Given the description of an element on the screen output the (x, y) to click on. 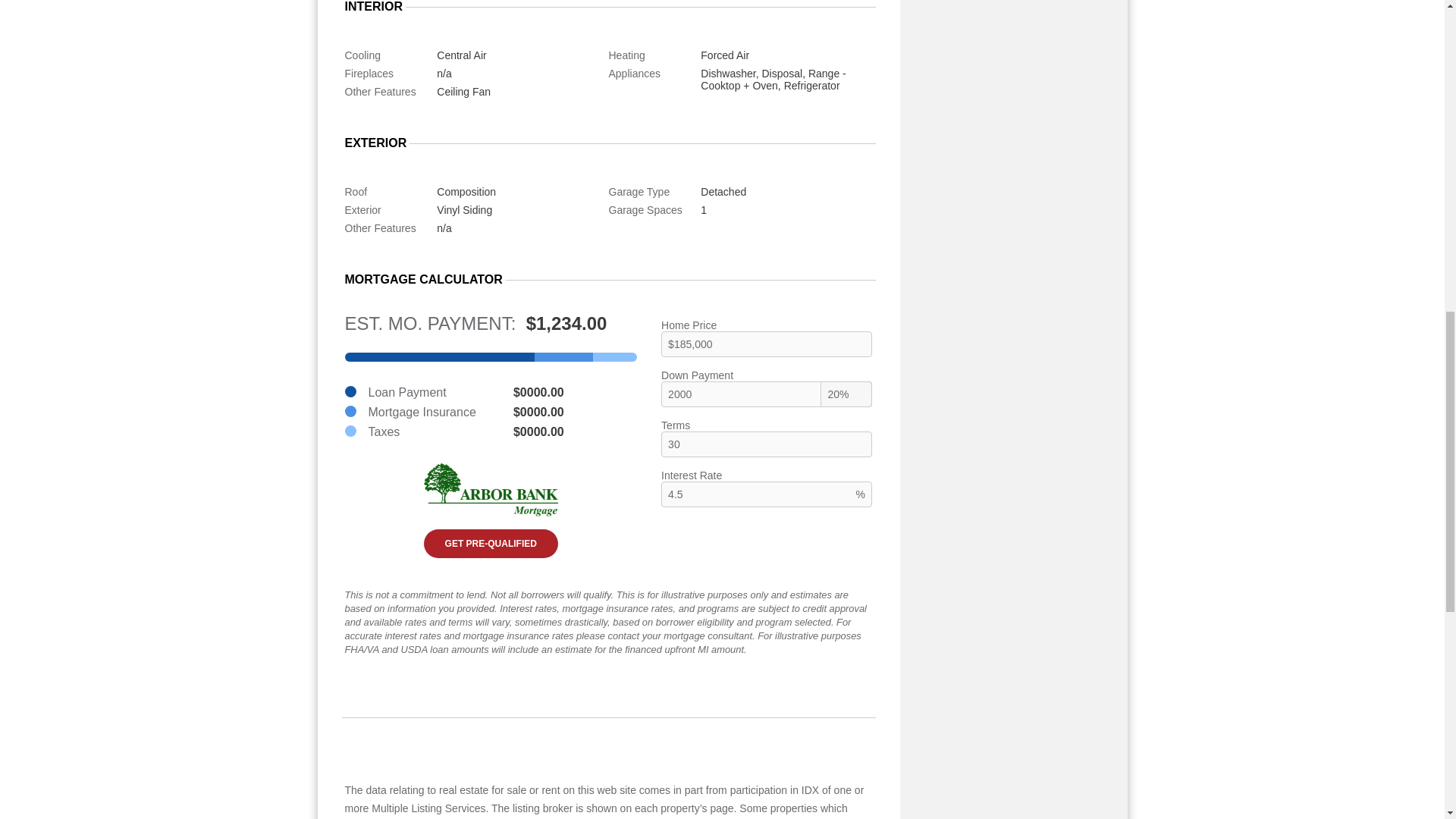
2000 (766, 394)
4.5 (766, 493)
30 (766, 444)
